Given the description of an element on the screen output the (x, y) to click on. 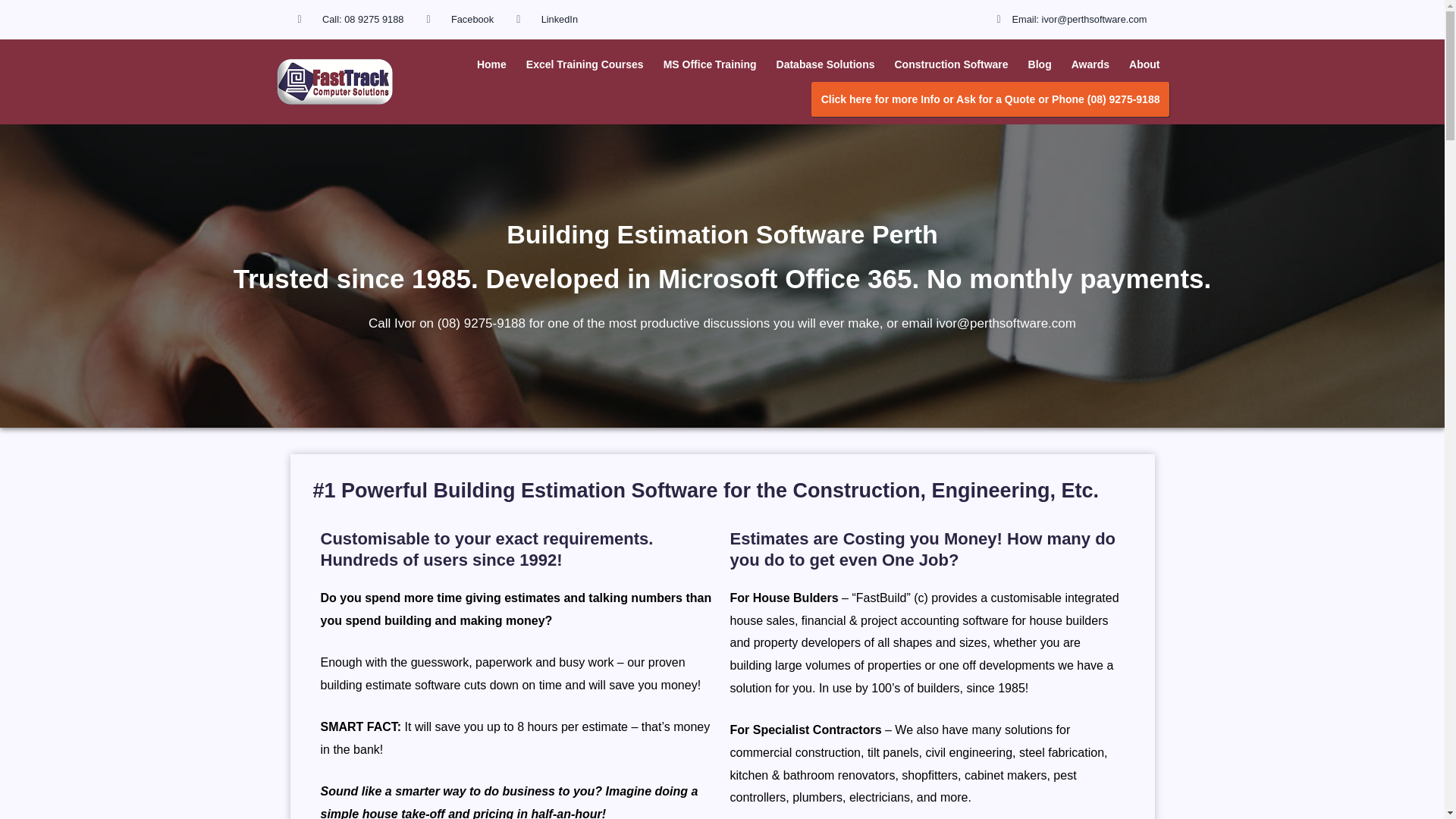
Excel Training Courses (584, 63)
Database Solutions (826, 63)
Home (491, 63)
Call: 08 9275 9188 (350, 19)
Facebook (459, 19)
Custom Database Solutions Perth (826, 63)
Fast Track Computer Solutions Blog (1039, 63)
LinkedIn (547, 19)
About (1144, 63)
Construction Software (950, 63)
MS Office Training (710, 63)
About US (1144, 63)
Awards (1090, 63)
Blog (1039, 63)
